Given the description of an element on the screen output the (x, y) to click on. 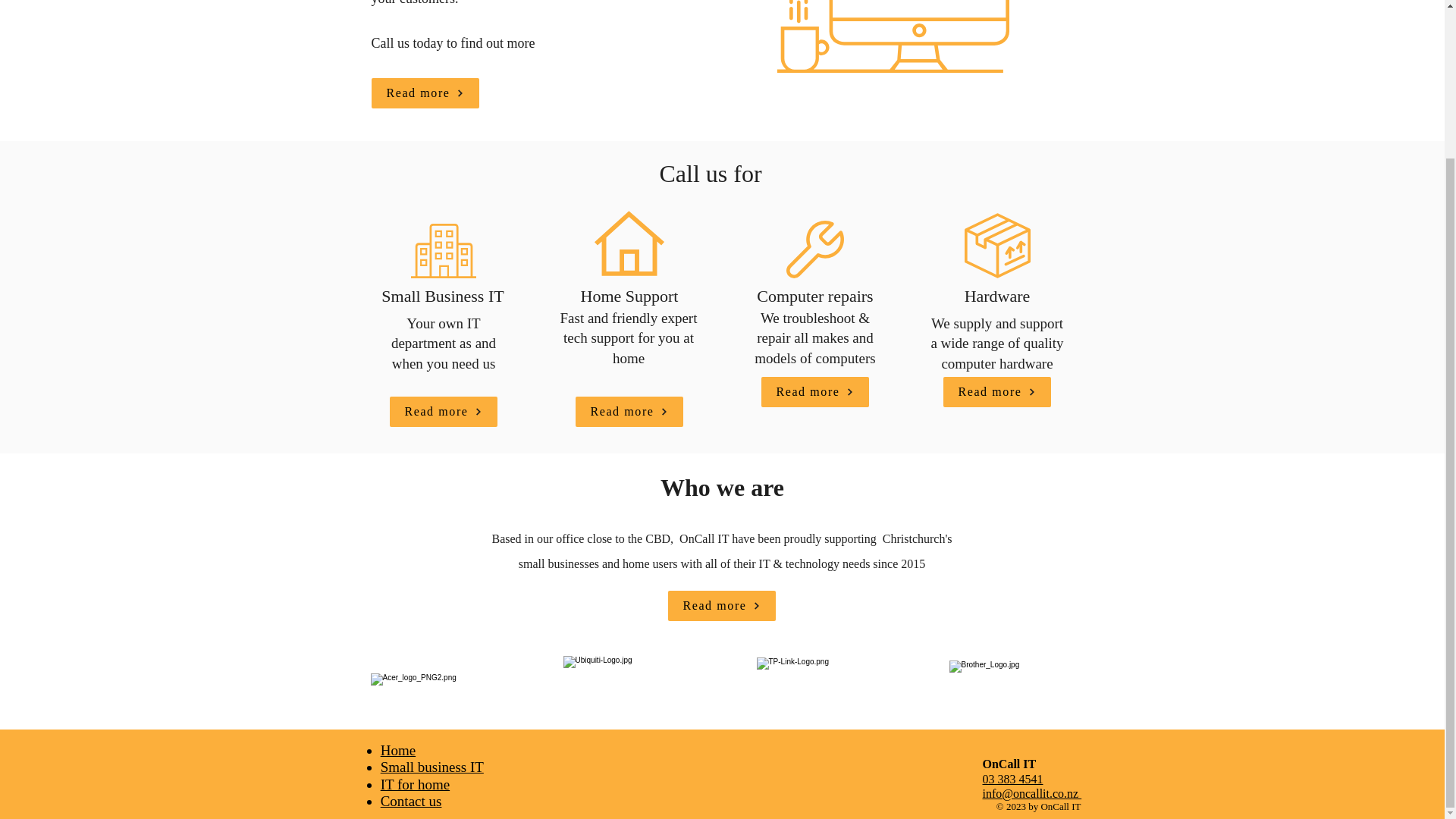
Walking the Dog (628, 690)
Read more (997, 391)
03 383 4541 (1012, 779)
Read more (815, 391)
Small business IT (431, 766)
Home (397, 750)
Walking the Dog (441, 690)
Contact us (411, 801)
Read more (720, 605)
Read more (628, 411)
Read more (425, 92)
Read more (443, 411)
IT for home (414, 784)
Walking the Dog (815, 691)
Walking the Dog (1007, 694)
